Given the description of an element on the screen output the (x, y) to click on. 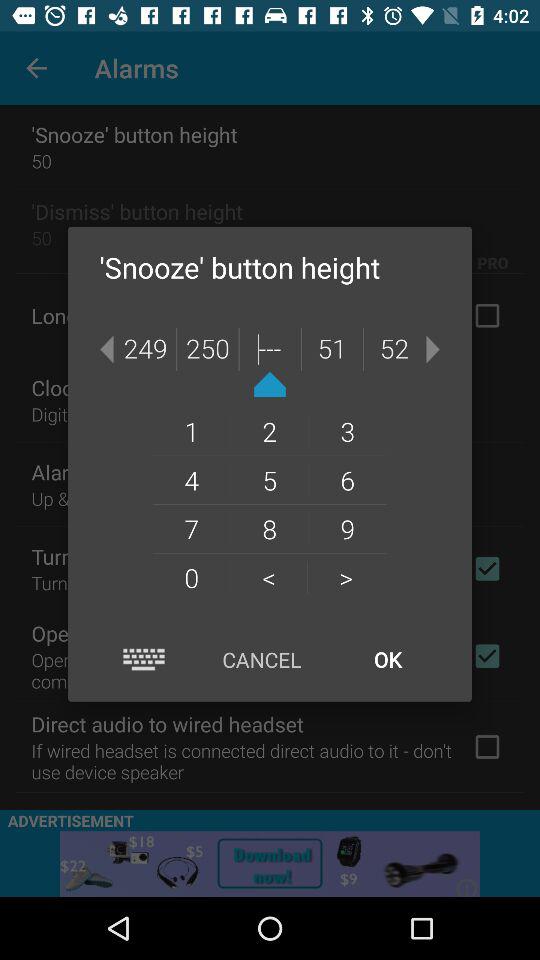
turn off the item next to the 1 (269, 479)
